Given the description of an element on the screen output the (x, y) to click on. 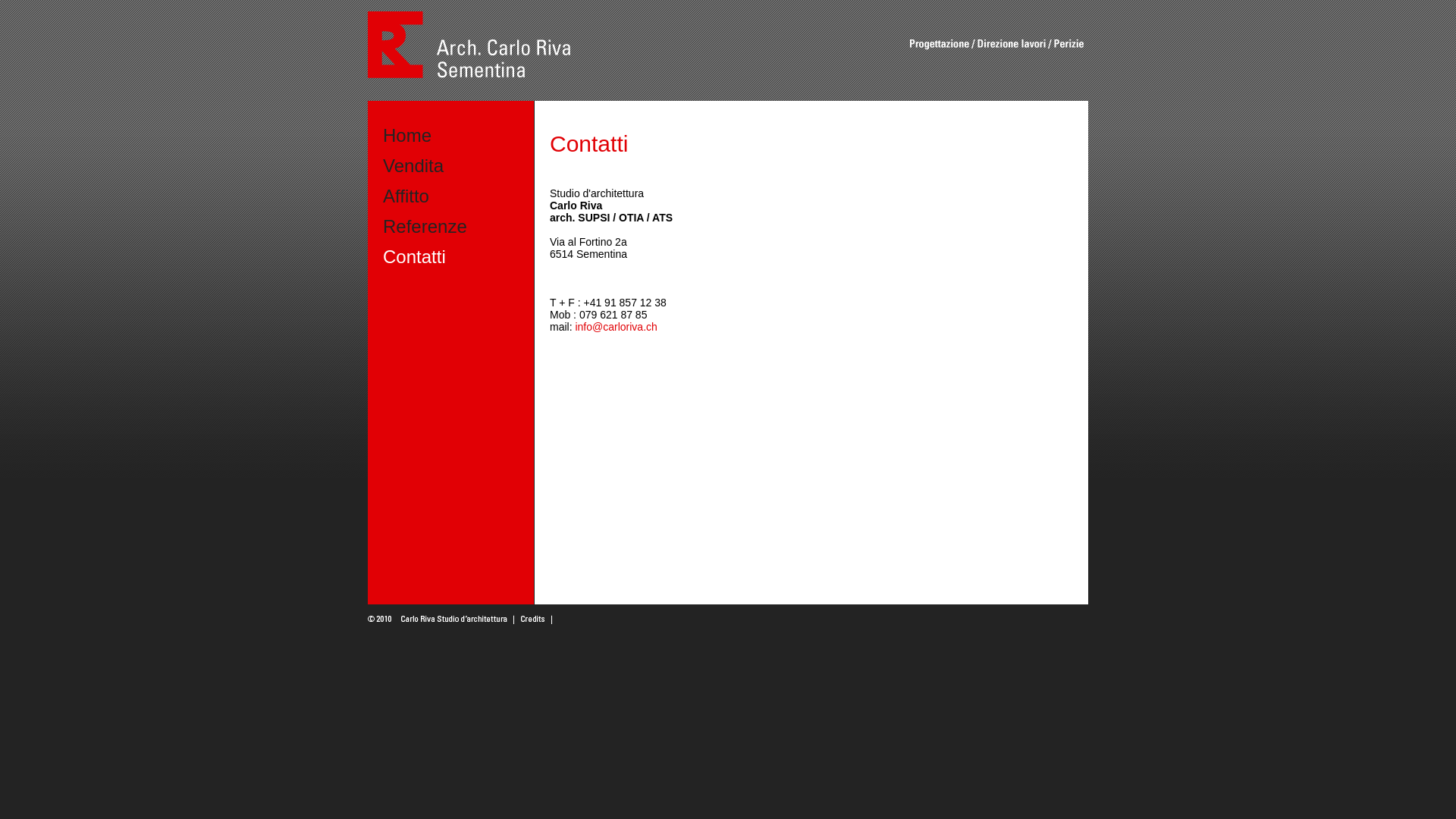
Vendita Element type: text (412, 165)
Home Element type: text (406, 135)
Contatti Element type: text (413, 256)
Referenze Element type: text (424, 226)
info@carloriva.ch Element type: text (615, 326)
Affitto Element type: text (405, 195)
